Given the description of an element on the screen output the (x, y) to click on. 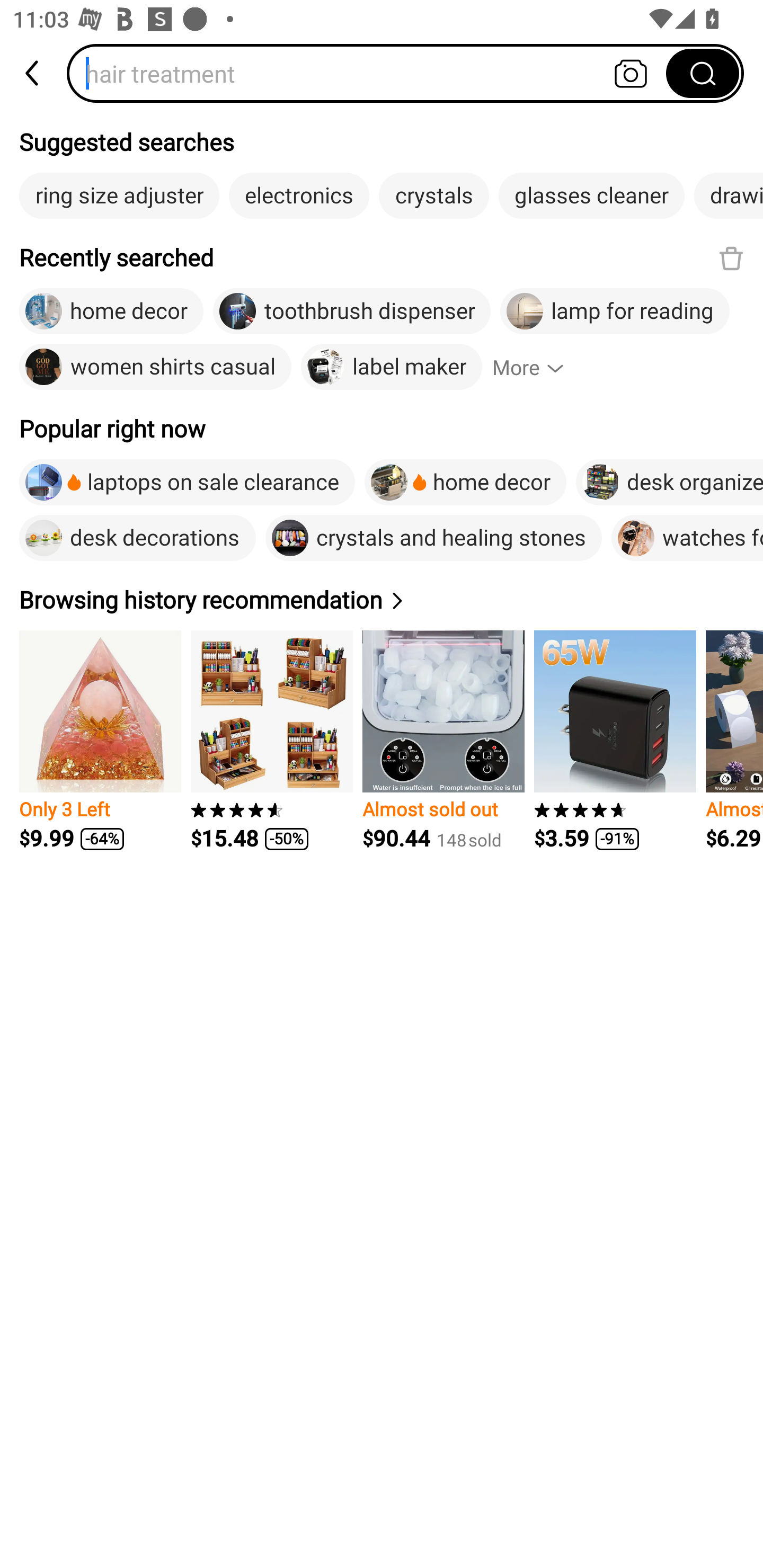
back (33, 72)
hair treatment (372, 73)
Search by photo (630, 73)
ring size adjuster (119, 195)
electronics (298, 195)
crystals (434, 195)
glasses cleaner (591, 195)
Delete recent search (731, 258)
home decor (111, 310)
toothbrush dispenser (351, 310)
lamp for reading (614, 310)
women shirts casual (155, 366)
label maker (391, 366)
More (535, 366)
laptops on sale clearance (186, 481)
home decor (465, 481)
desk organizers and accessories (669, 481)
desk decorations (137, 537)
crystals and healing stones (433, 537)
watches for women (687, 537)
Browsing history recommendation (213, 600)
Only 3 Left $9.99 -64% (100, 740)
$15.48 -50% (271, 740)
Almost sold out $90.44 148￼sold (443, 740)
$3.59 -91% (614, 740)
